Given the description of an element on the screen output the (x, y) to click on. 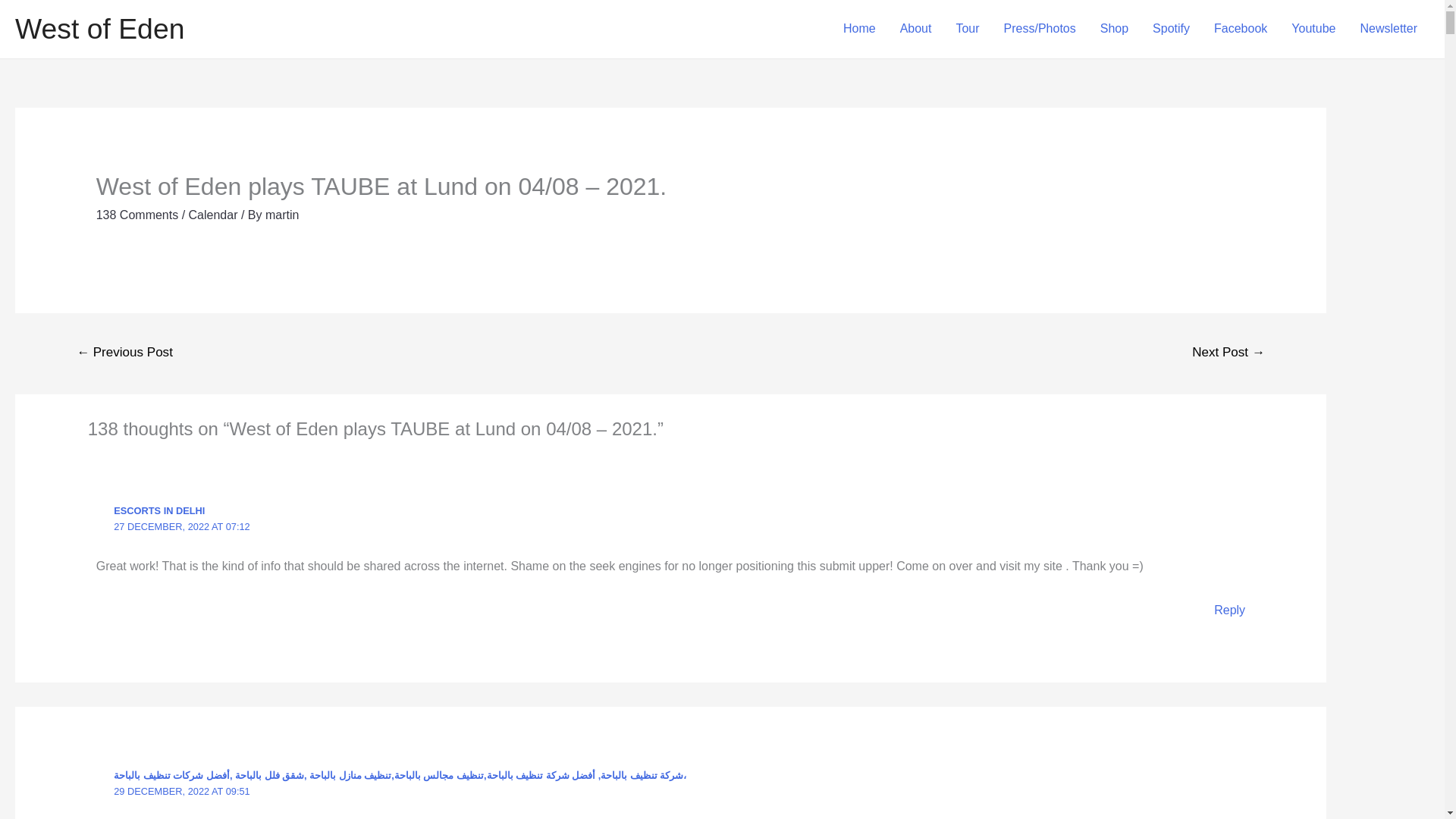
Spotify (1171, 28)
29 DECEMBER, 2022 AT 09:51 (181, 790)
27 DECEMBER, 2022 AT 07:12 (181, 526)
Tour (967, 28)
Reply (1229, 609)
martin (281, 214)
Shop (1113, 28)
View all posts by martin (281, 214)
Youtube (1313, 28)
Calendar (213, 214)
Facebook (1240, 28)
Newsletter (1388, 28)
West of Eden (99, 29)
138 Comments (137, 214)
ESCORTS IN DELHI (159, 510)
